Given the description of an element on the screen output the (x, y) to click on. 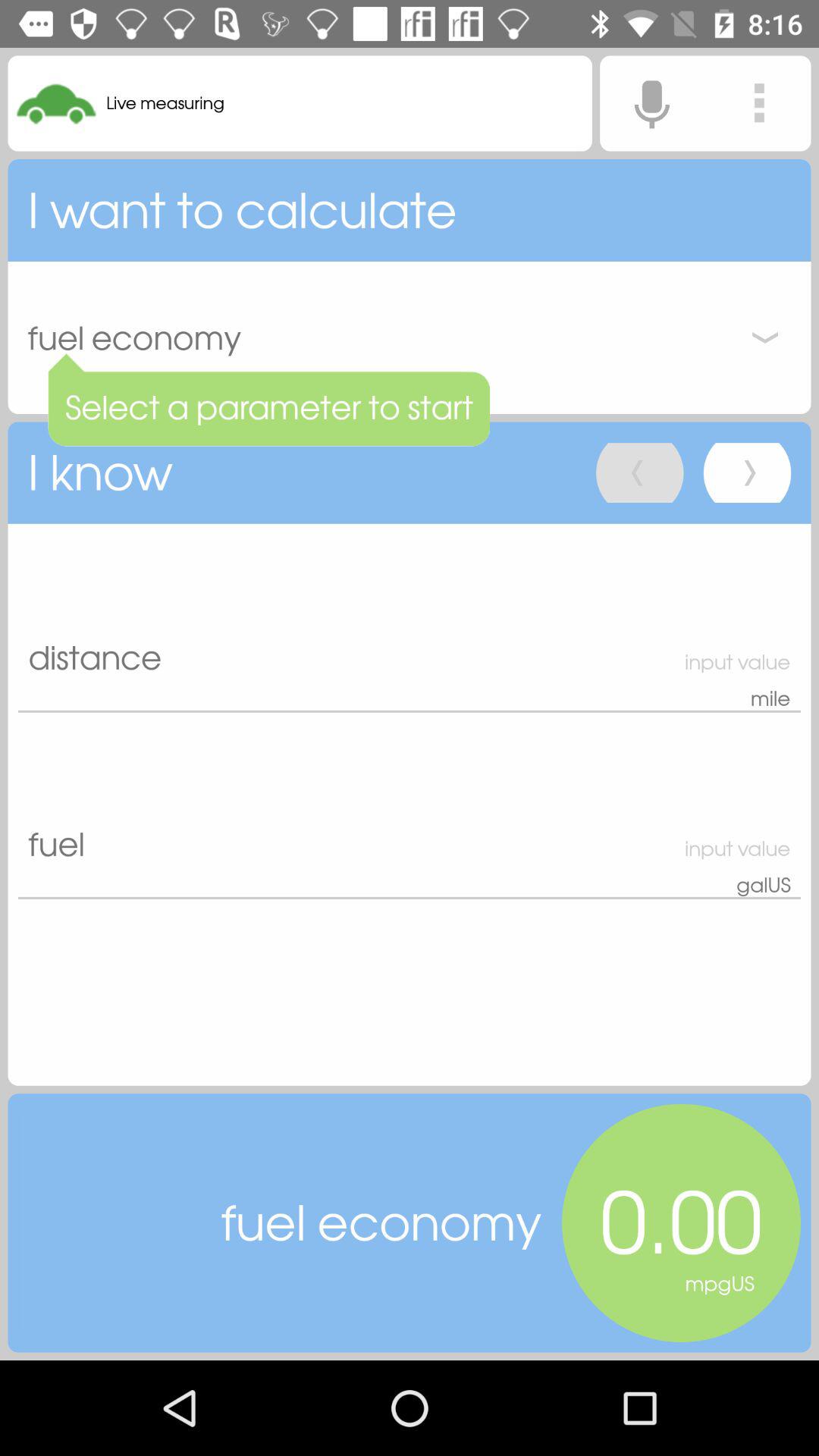
go back (639, 472)
